Given the description of an element on the screen output the (x, y) to click on. 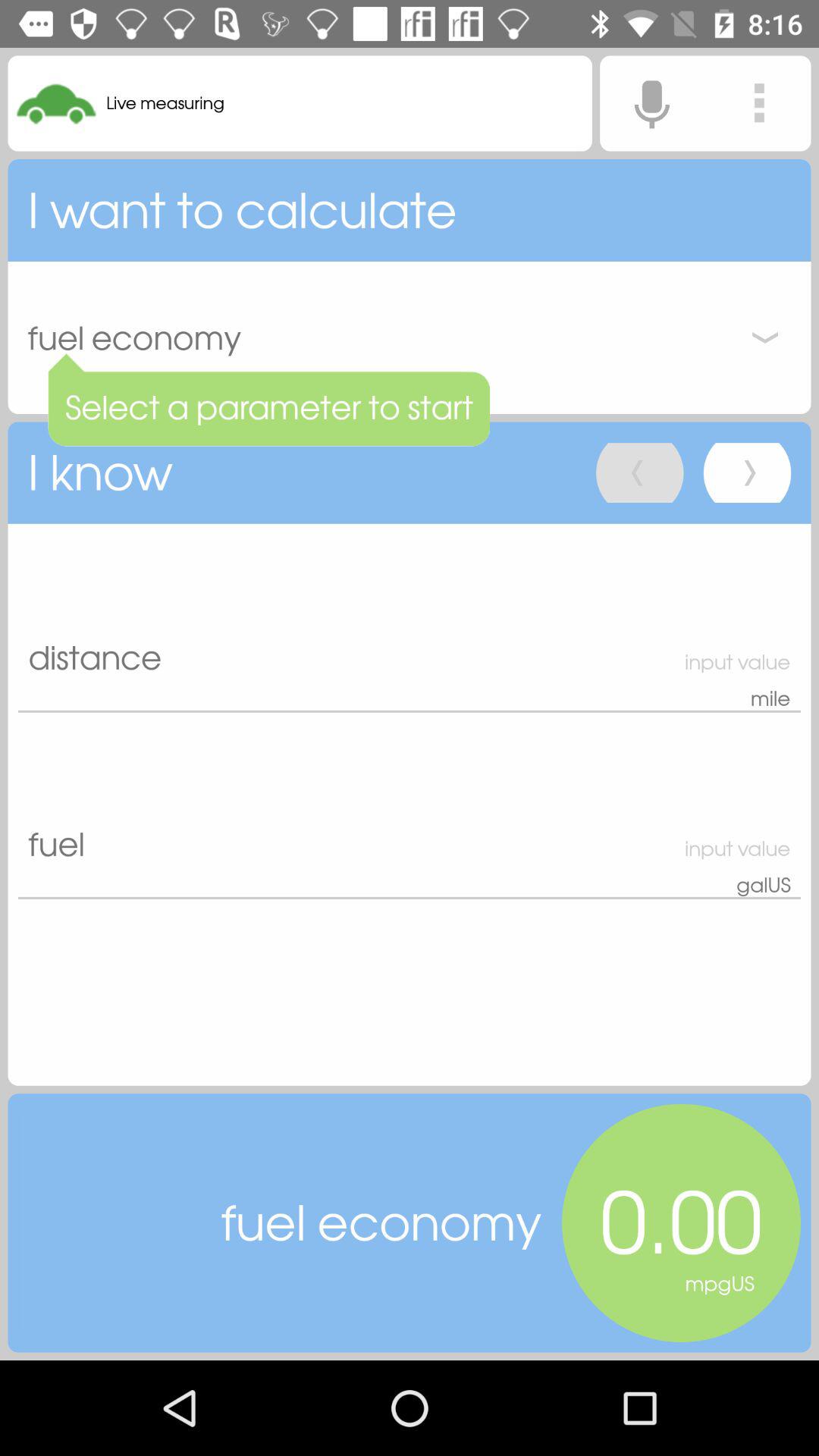
go back (639, 472)
